Given the description of an element on the screen output the (x, y) to click on. 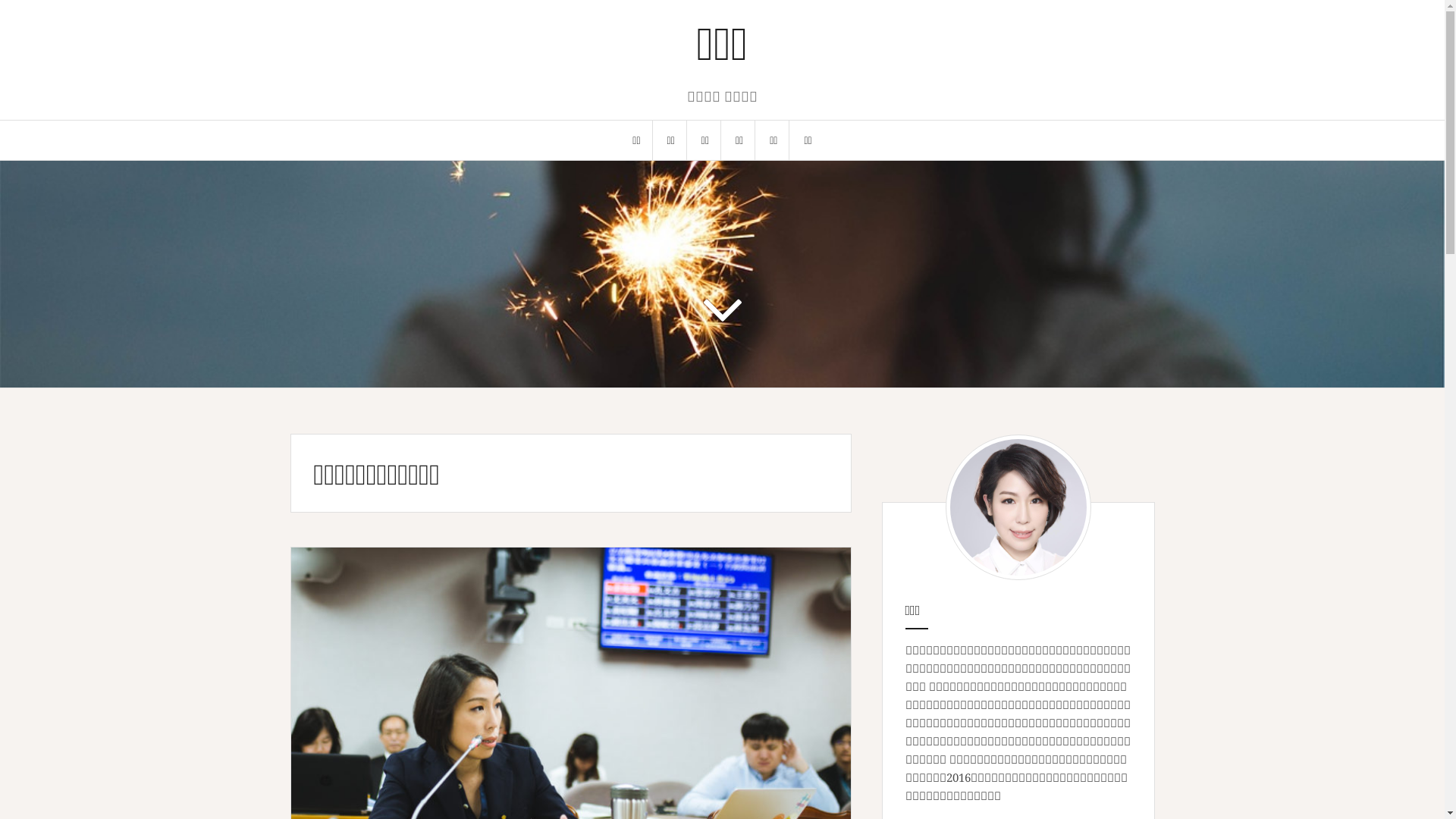
Skip to content Element type: text (0, 0)
